Given the description of an element on the screen output the (x, y) to click on. 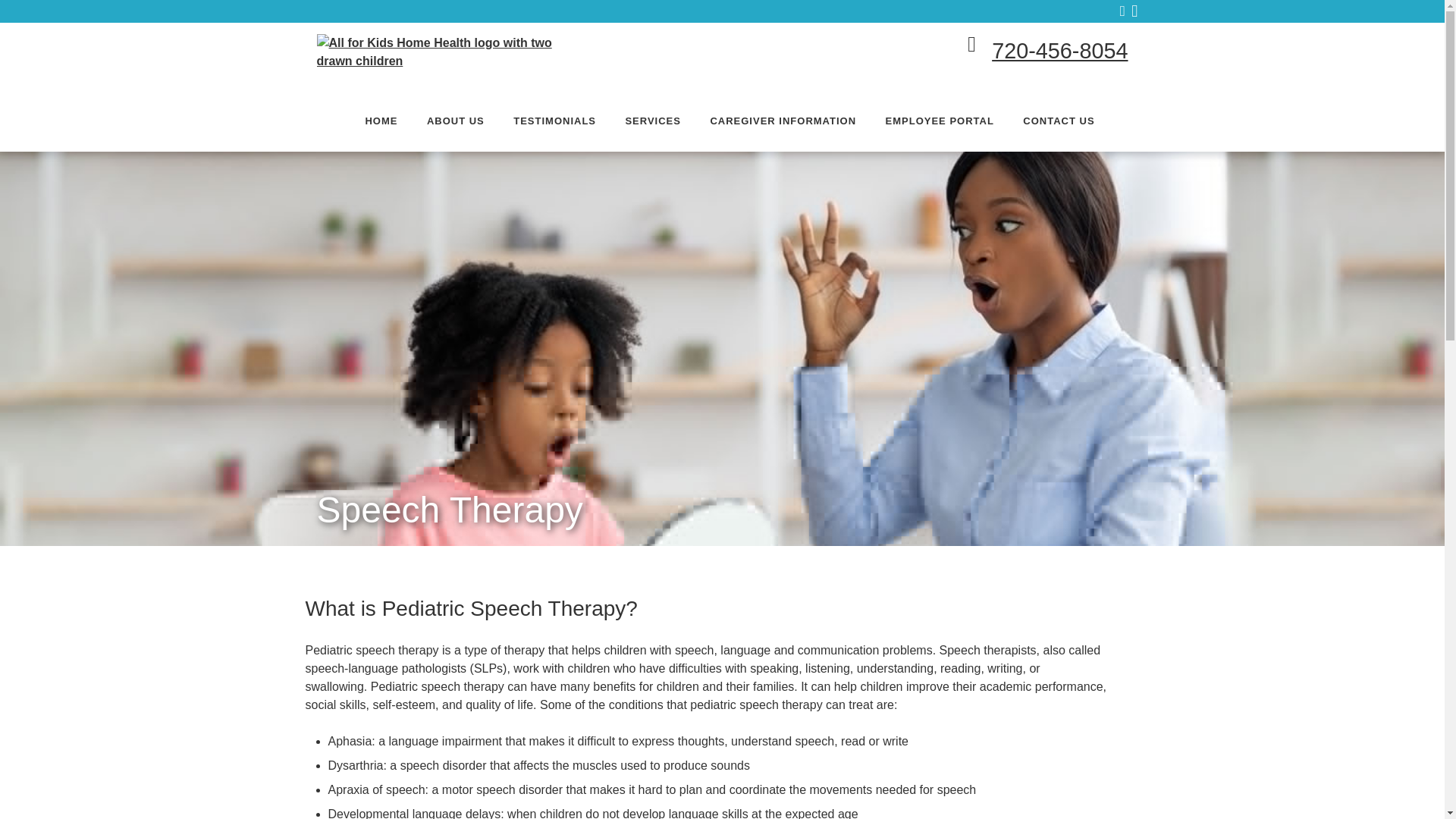
720-456-8054 (1058, 50)
CONTACT US (1058, 120)
SERVICES (652, 120)
TESTIMONIALS (554, 120)
EMPLOYEE PORTAL (939, 120)
HOME (381, 120)
ABOUT US (455, 120)
CAREGIVER INFORMATION (782, 120)
